Given the description of an element on the screen output the (x, y) to click on. 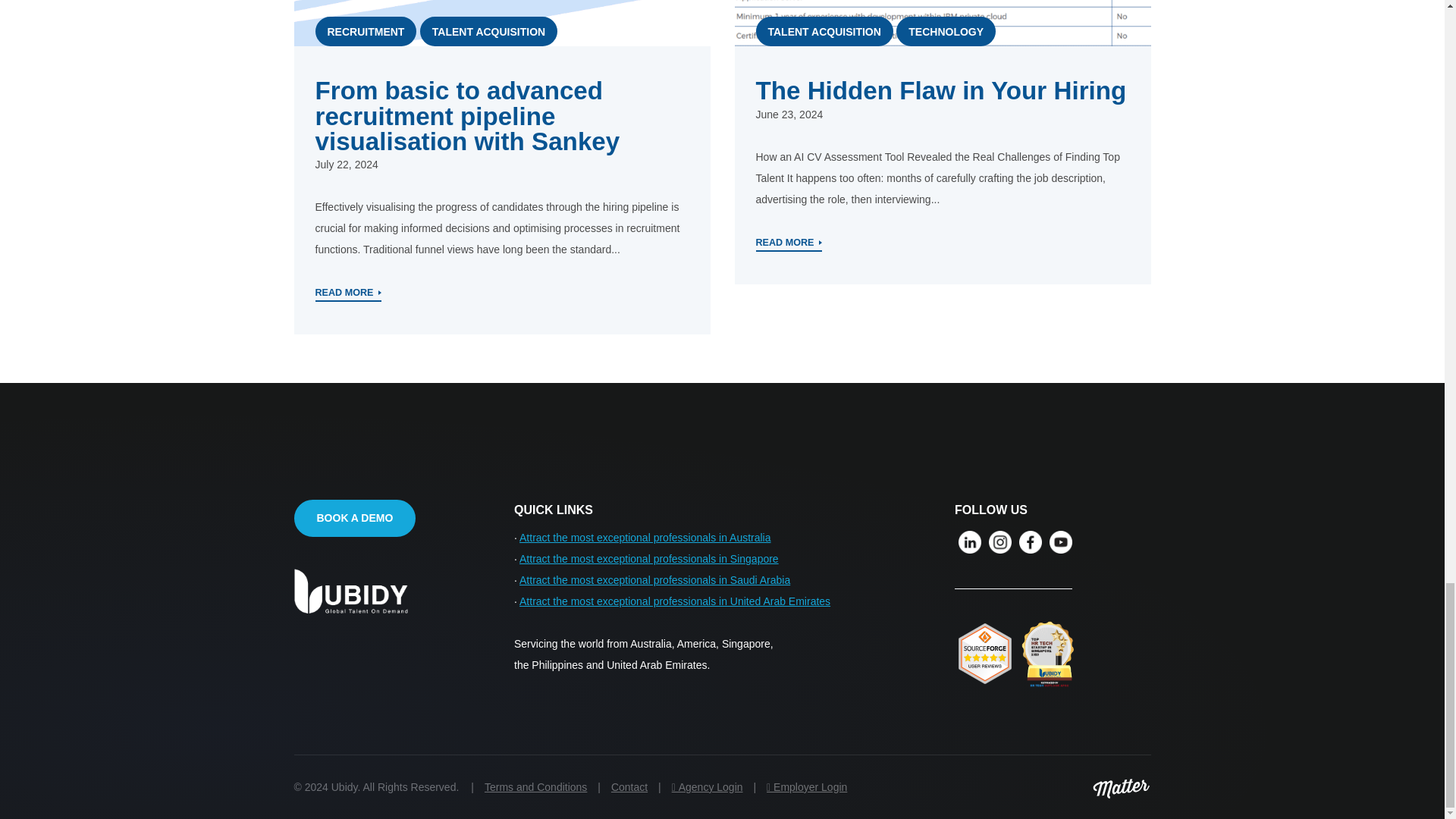
READ MORE (788, 243)
TALENT ACQUISITION (488, 30)
RECRUITMENT (365, 30)
The Hidden Flaw in Your Hiring (940, 90)
TECHNOLOGY (945, 30)
Attract the most exceptional professionals in Singapore (648, 558)
READ MORE (348, 293)
Attract the most exceptional professionals in Saudi Arabia (654, 580)
TALENT ACQUISITION (823, 30)
